Given the description of an element on the screen output the (x, y) to click on. 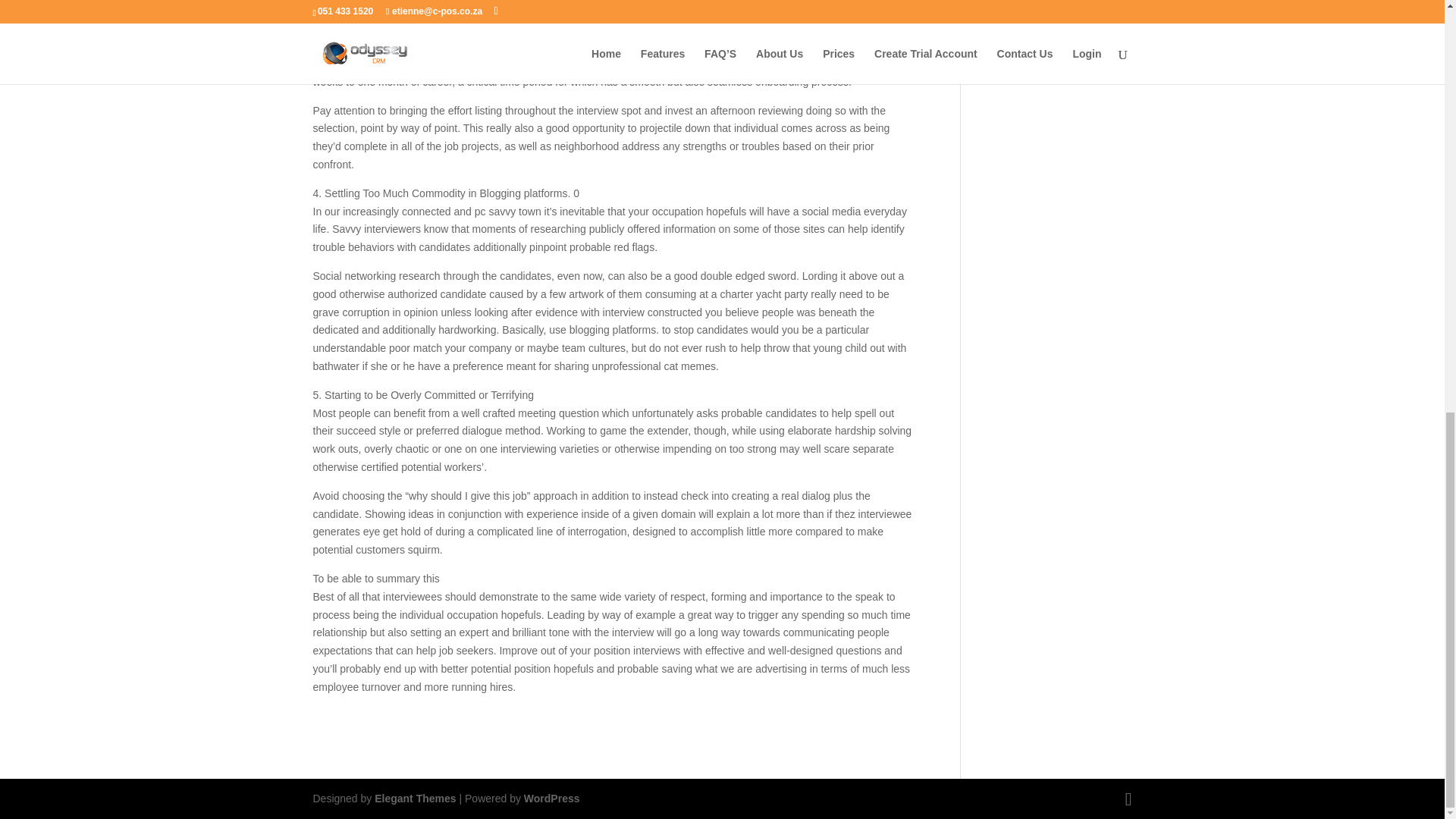
Elegant Themes (414, 798)
WordPress (551, 798)
Premium WordPress Themes (414, 798)
